Given the description of an element on the screen output the (x, y) to click on. 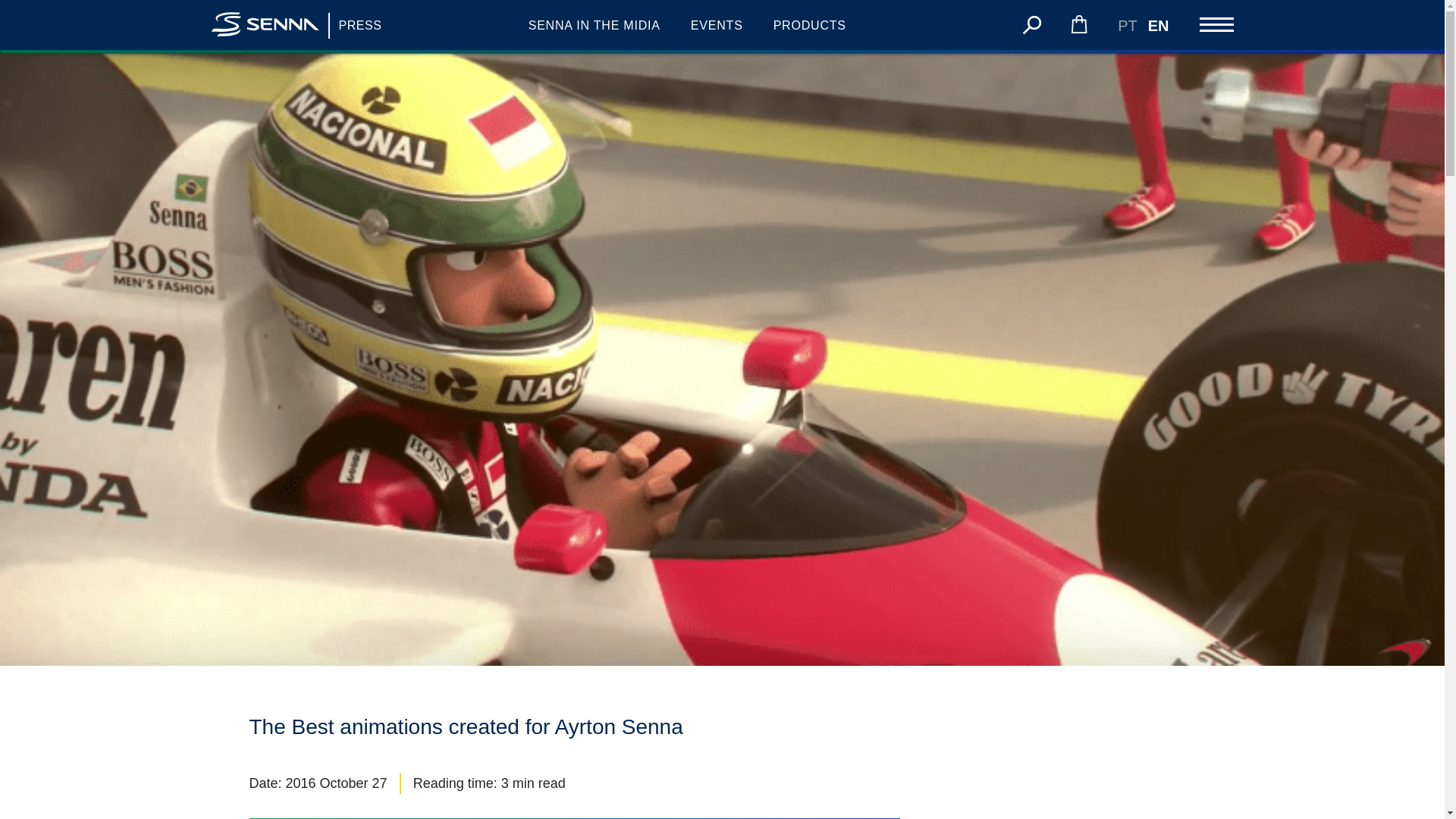
SENNA IN THE MIDIA (594, 25)
EVENTS (716, 25)
PRESS (360, 25)
PRODUCTS (809, 25)
Senna (264, 25)
PT (1127, 25)
EN (1158, 25)
